Given the description of an element on the screen output the (x, y) to click on. 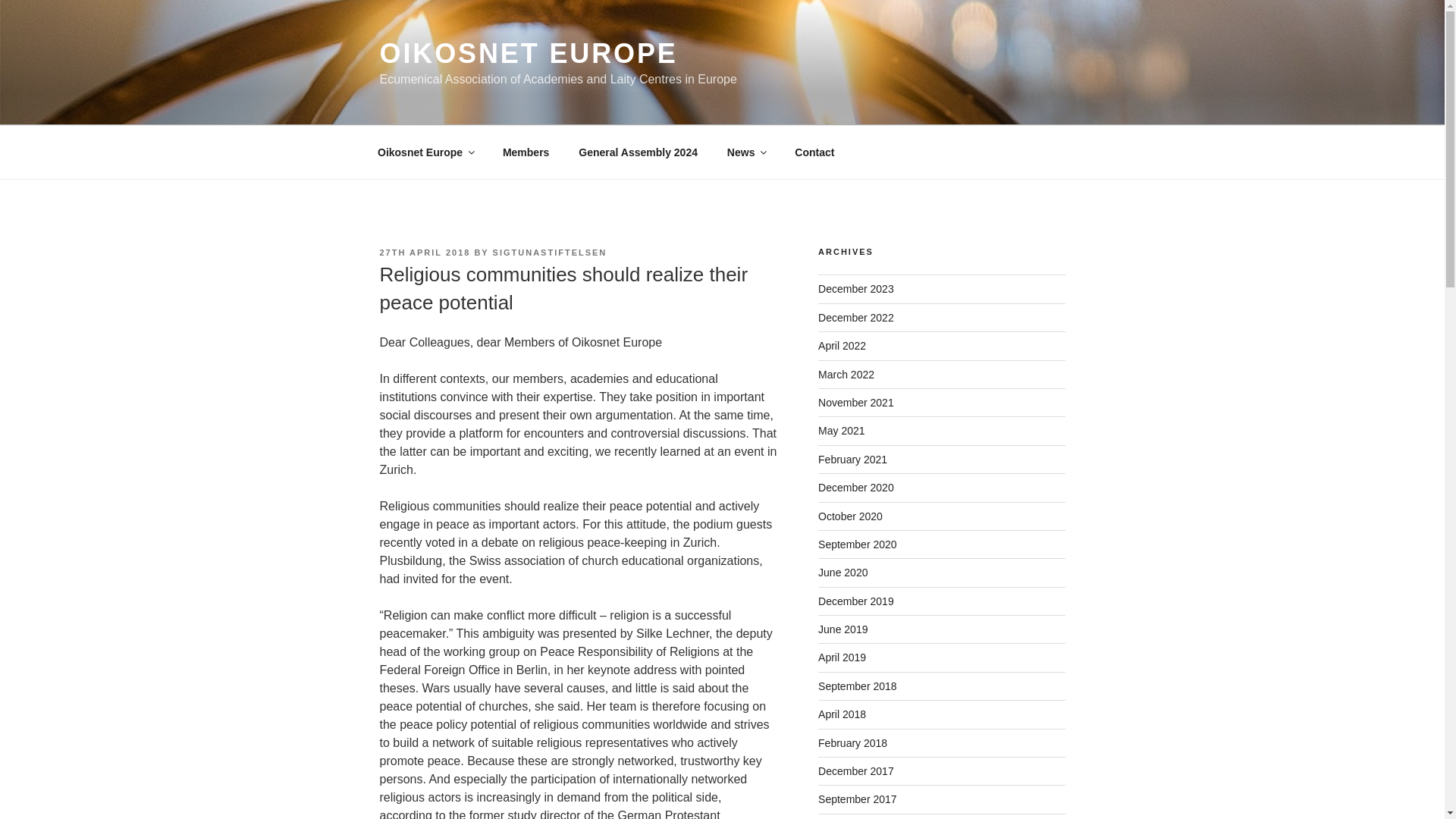
April 2019 (842, 657)
March 2022 (846, 374)
November 2021 (855, 402)
June 2019 (842, 629)
December 2020 (855, 487)
General Assembly 2024 (638, 151)
June 2020 (842, 572)
27TH APRIL 2018 (424, 252)
February 2021 (852, 459)
October 2020 (850, 516)
December 2023 (855, 288)
September 2020 (857, 544)
April 2022 (842, 345)
December 2019 (855, 601)
May 2021 (841, 430)
